Given the description of an element on the screen output the (x, y) to click on. 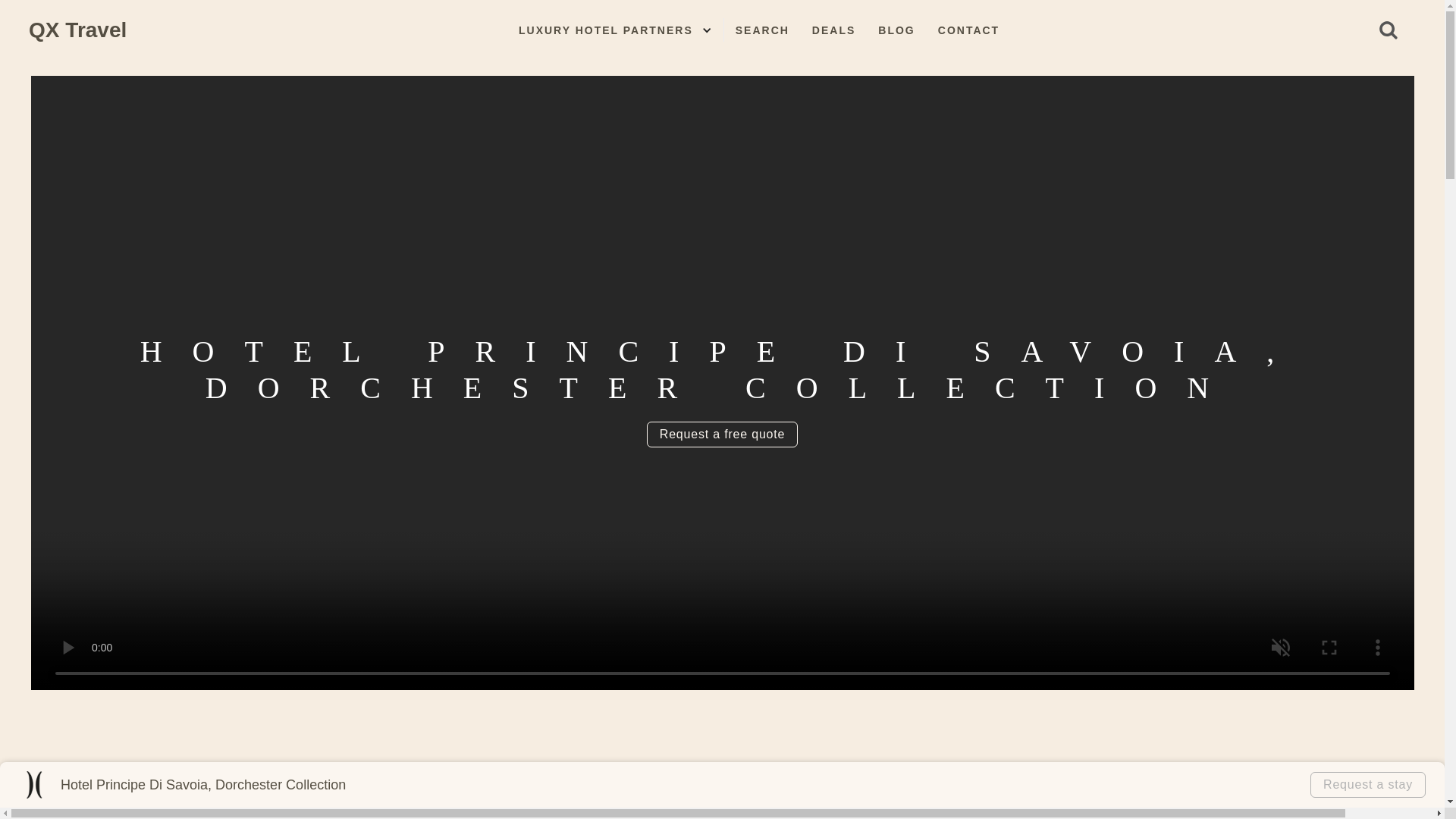
CONTACT (968, 30)
SEARCH (761, 30)
BLOG (896, 30)
DEALS (833, 30)
LUXURY HOTEL PARTNERS (605, 30)
QX Travel (77, 30)
